Given the description of an element on the screen output the (x, y) to click on. 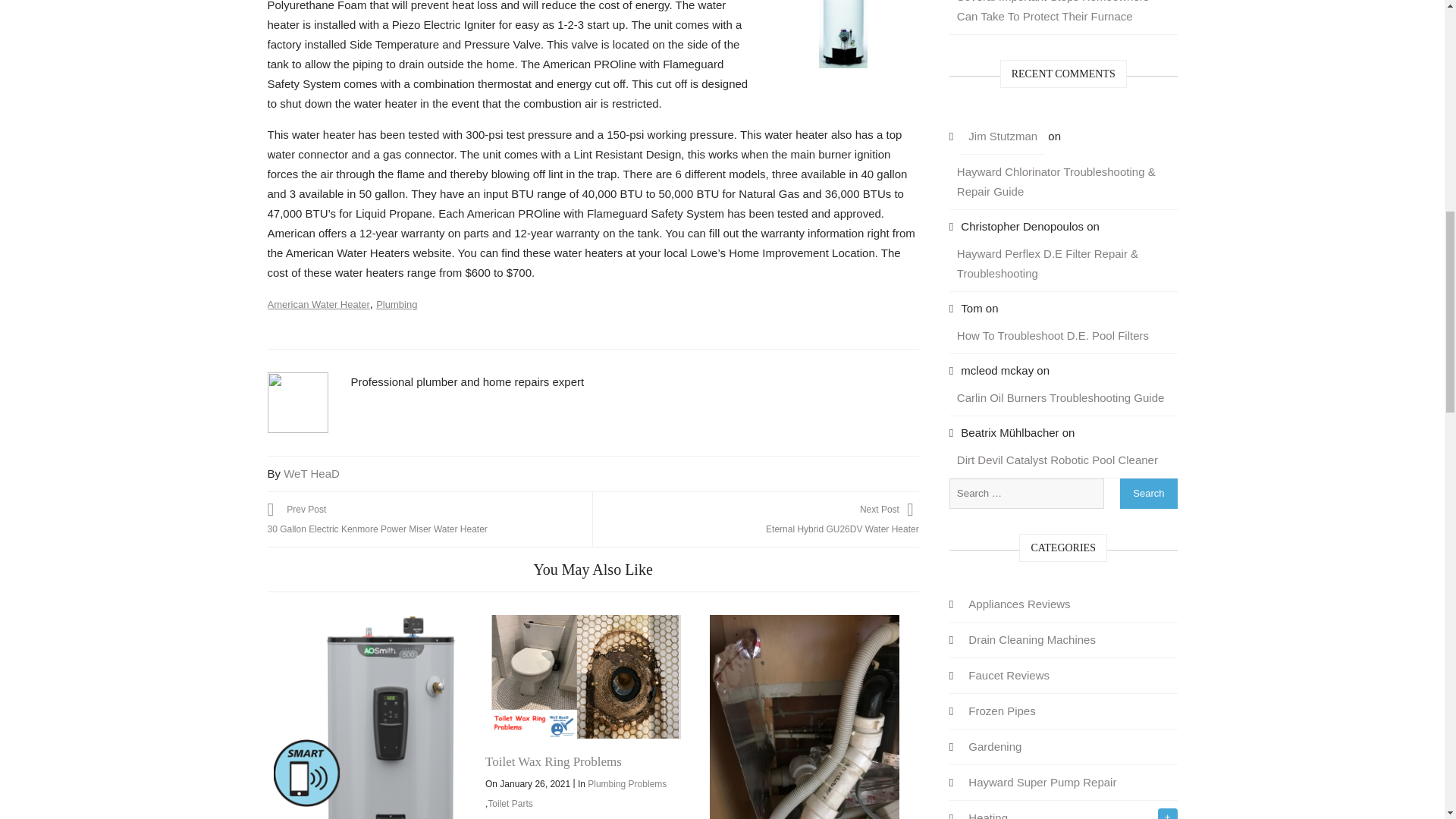
American PROline Water Heater (842, 33)
Toilet Wax Ring Problems (552, 761)
Plumbing (395, 304)
Search (1147, 493)
Toilet Parts (509, 803)
Toilet Wax Ring Problems (586, 677)
Plumbing Problems (627, 783)
AO Smith 50 Gallon Energy Smart Electric Water Heater (368, 717)
American Water Heater (317, 304)
Search (1147, 493)
